Given the description of an element on the screen output the (x, y) to click on. 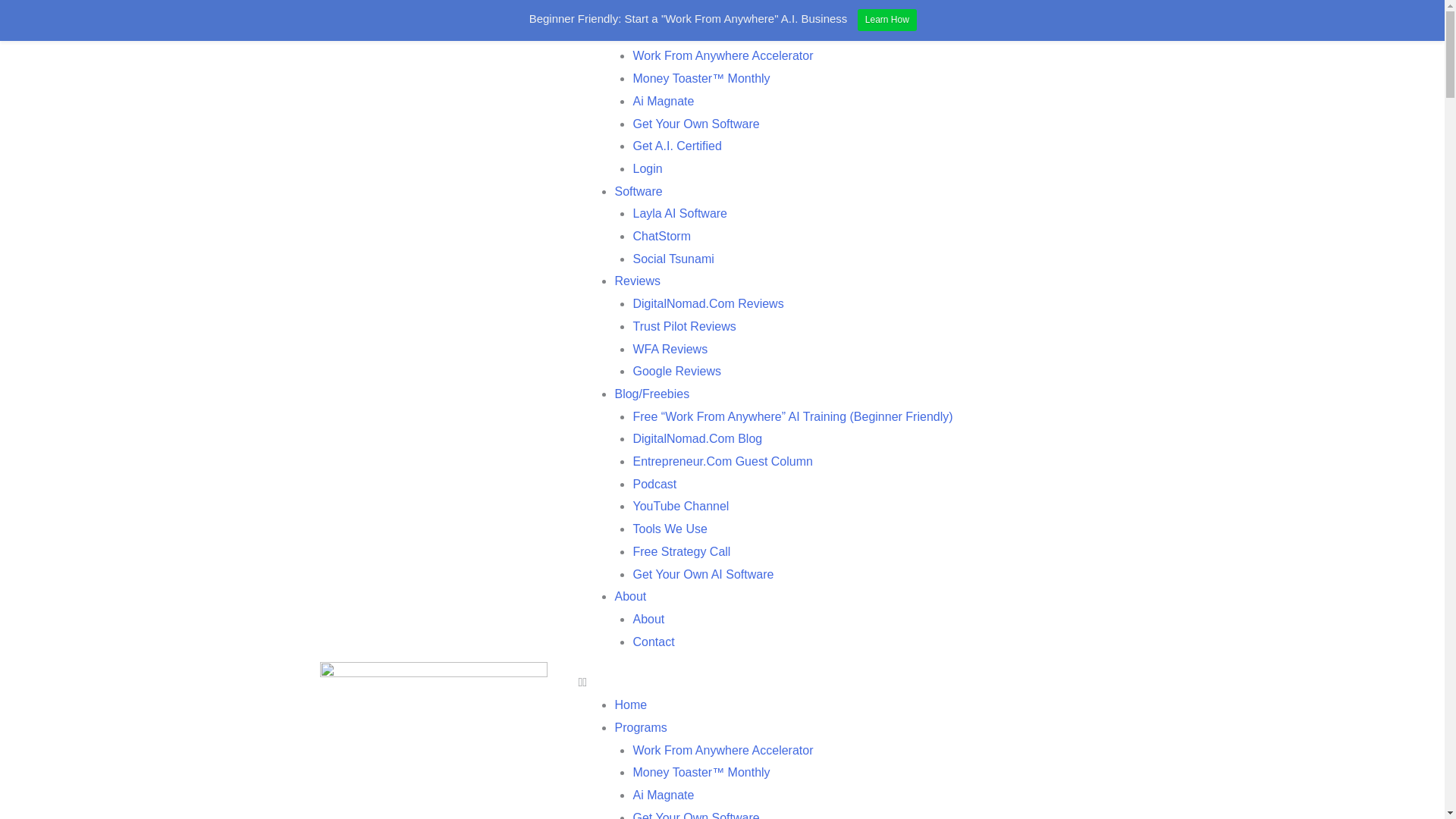
Free Strategy Call (680, 551)
Social Tsunami (672, 258)
Get Your Own Software (694, 123)
Programs (640, 727)
About (630, 595)
WFA Reviews (669, 349)
Programs (640, 33)
Get Your Own AI Software (702, 574)
Layla AI Software (678, 213)
Login (646, 168)
